Given the description of an element on the screen output the (x, y) to click on. 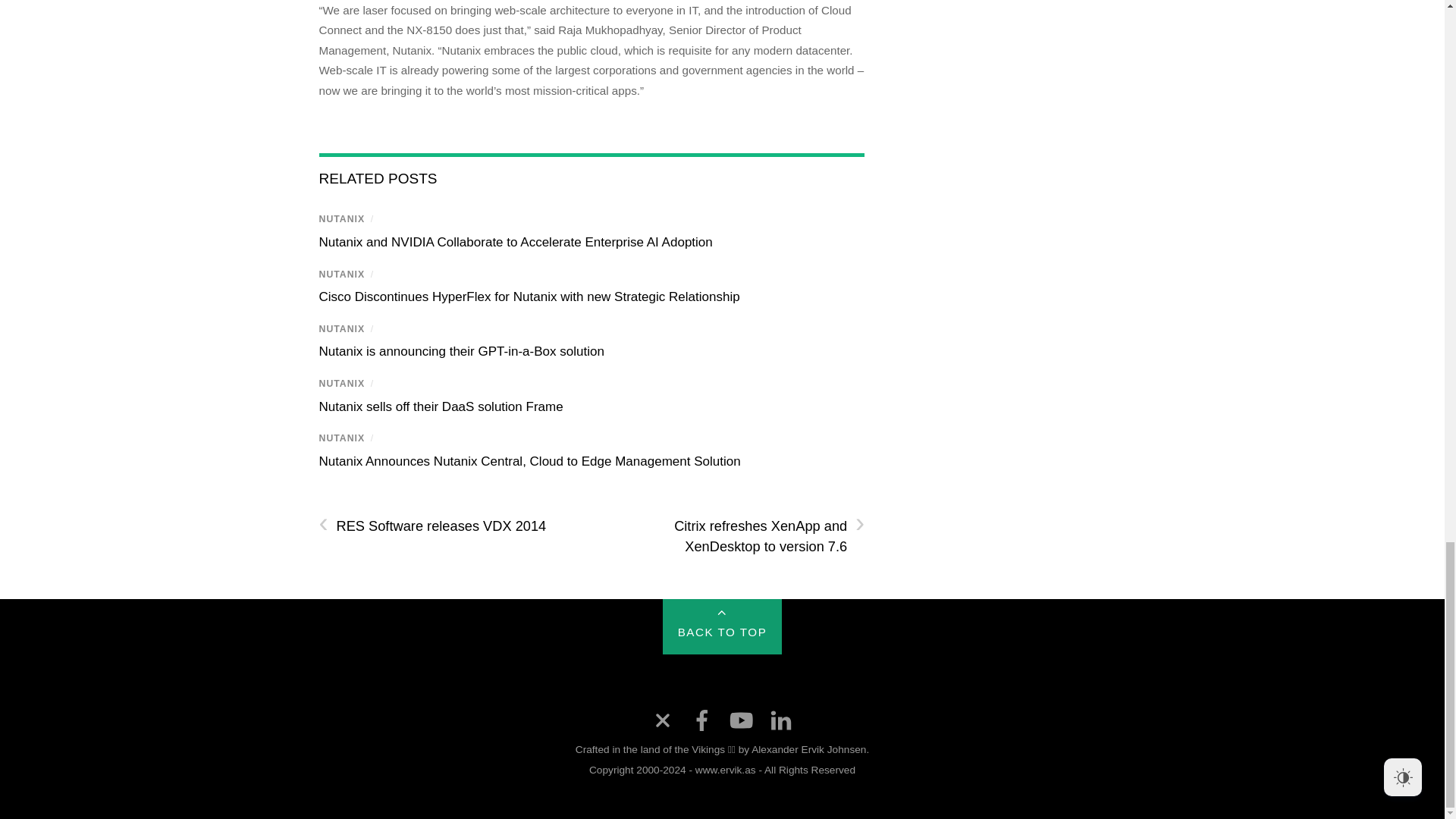
Nutanix is announcing their GPT-in-a-Box solution (461, 350)
Nutanix sells off their DaaS solution Frame (440, 406)
